Given the description of an element on the screen output the (x, y) to click on. 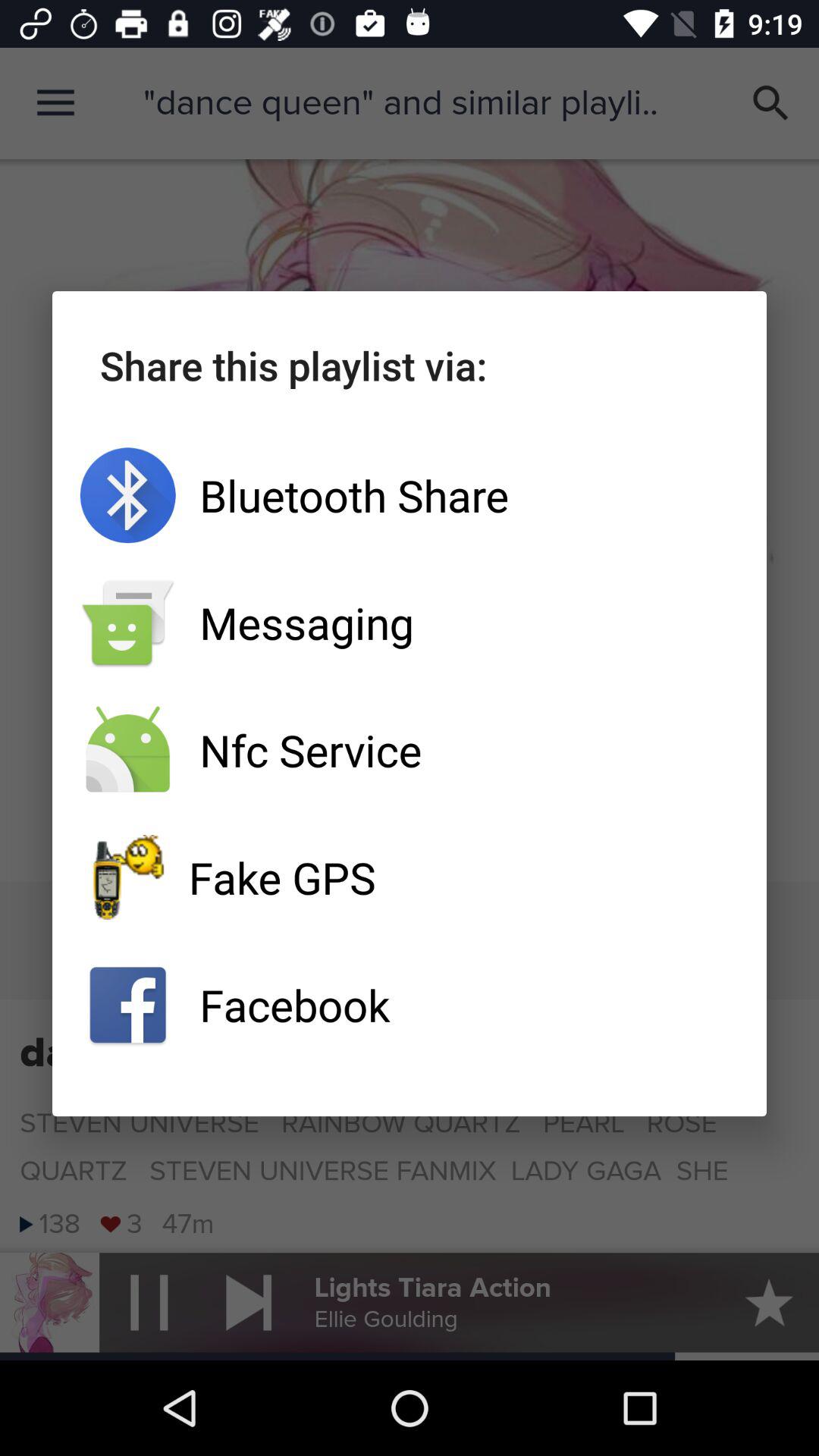
launch the icon above facebook app (409, 877)
